Given the description of an element on the screen output the (x, y) to click on. 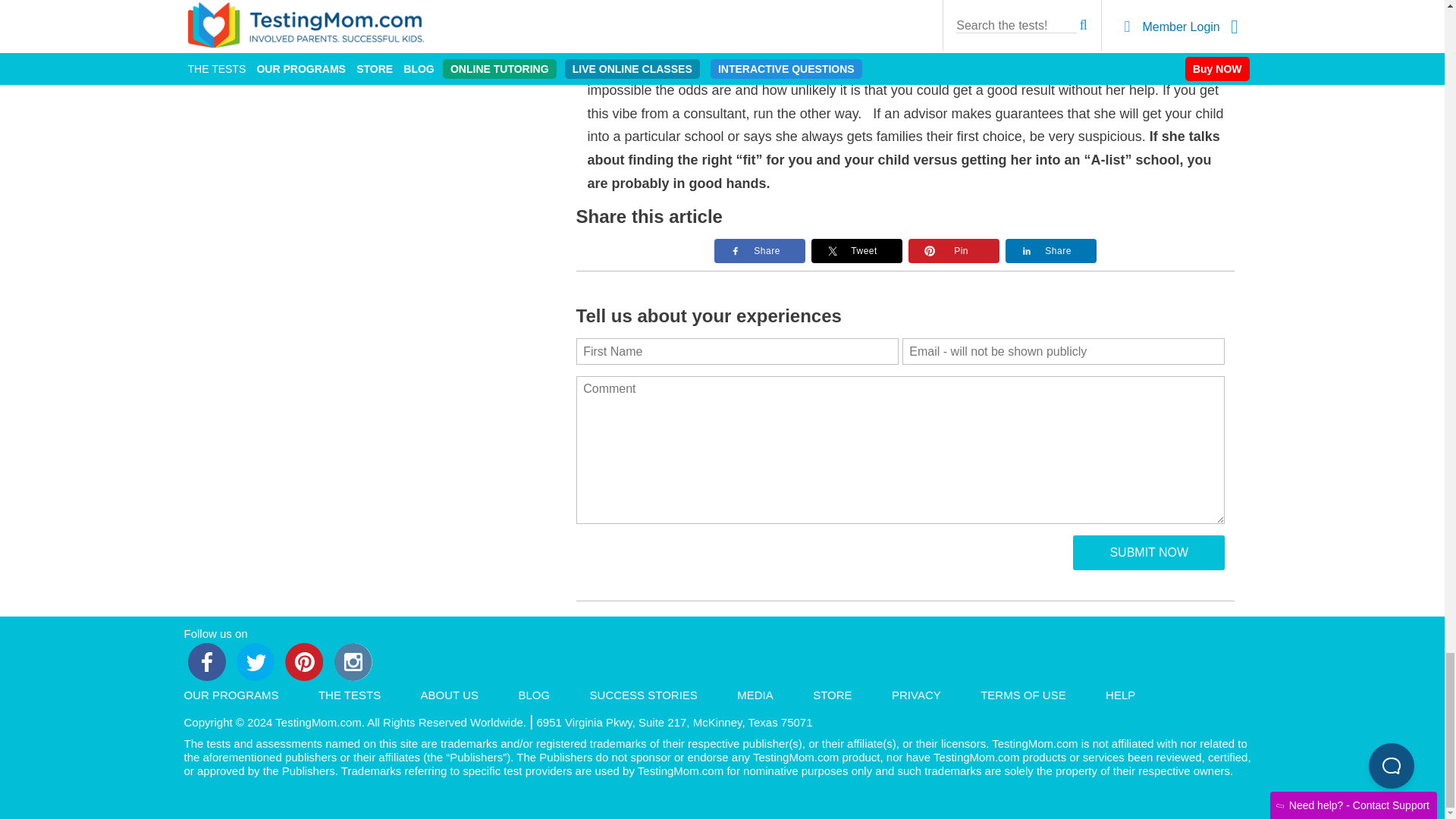
SUBMIT NOW (1148, 552)
